Given the description of an element on the screen output the (x, y) to click on. 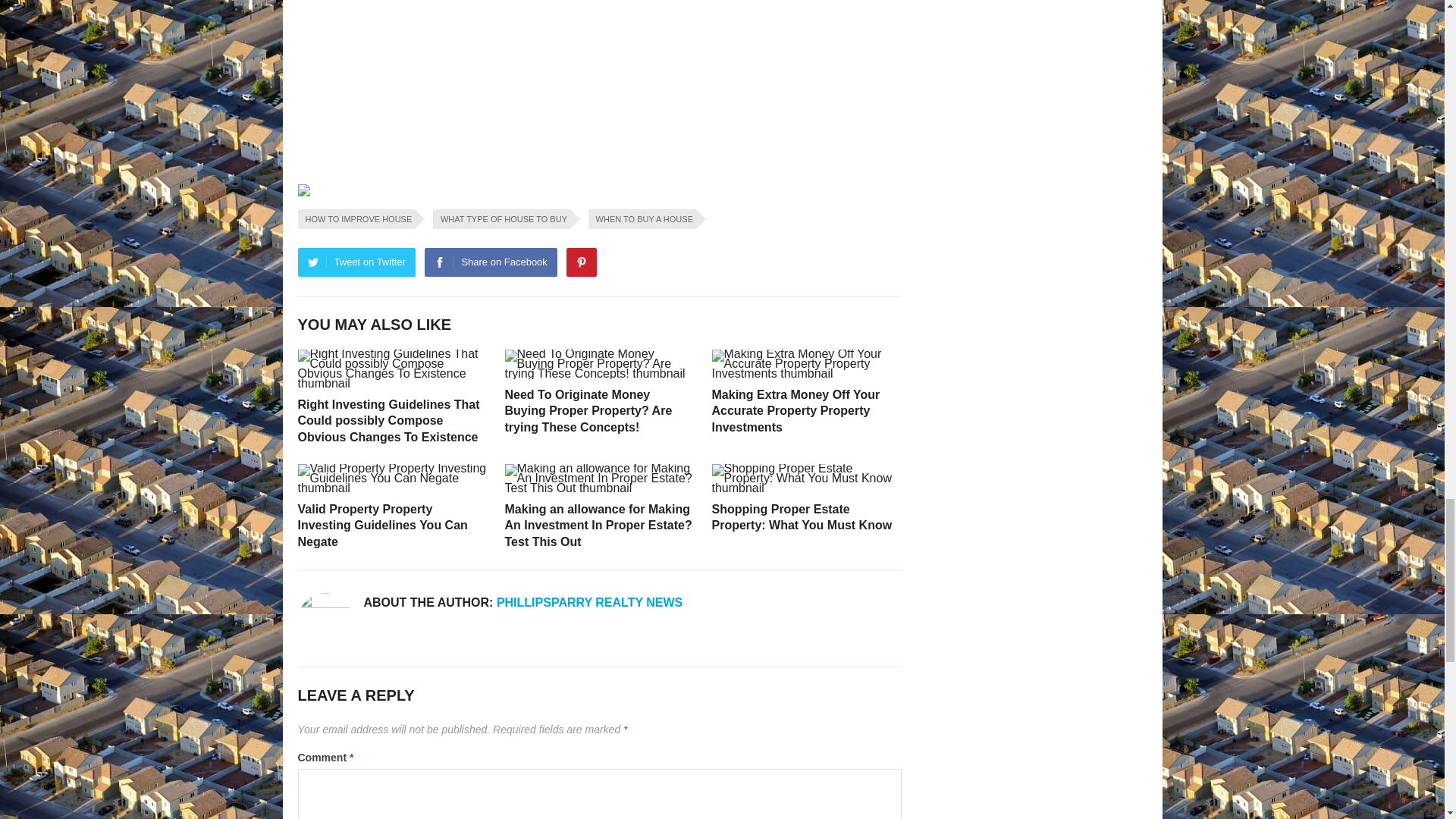
HOW TO IMPROVE HOUSE (355, 176)
Pinterest (581, 219)
WHAT TYPE OF HOUSE TO BUY (501, 176)
WHEN TO BUY A HOUSE (641, 176)
Tweet on Twitter (355, 219)
Share on Facebook (490, 219)
